Given the description of an element on the screen output the (x, y) to click on. 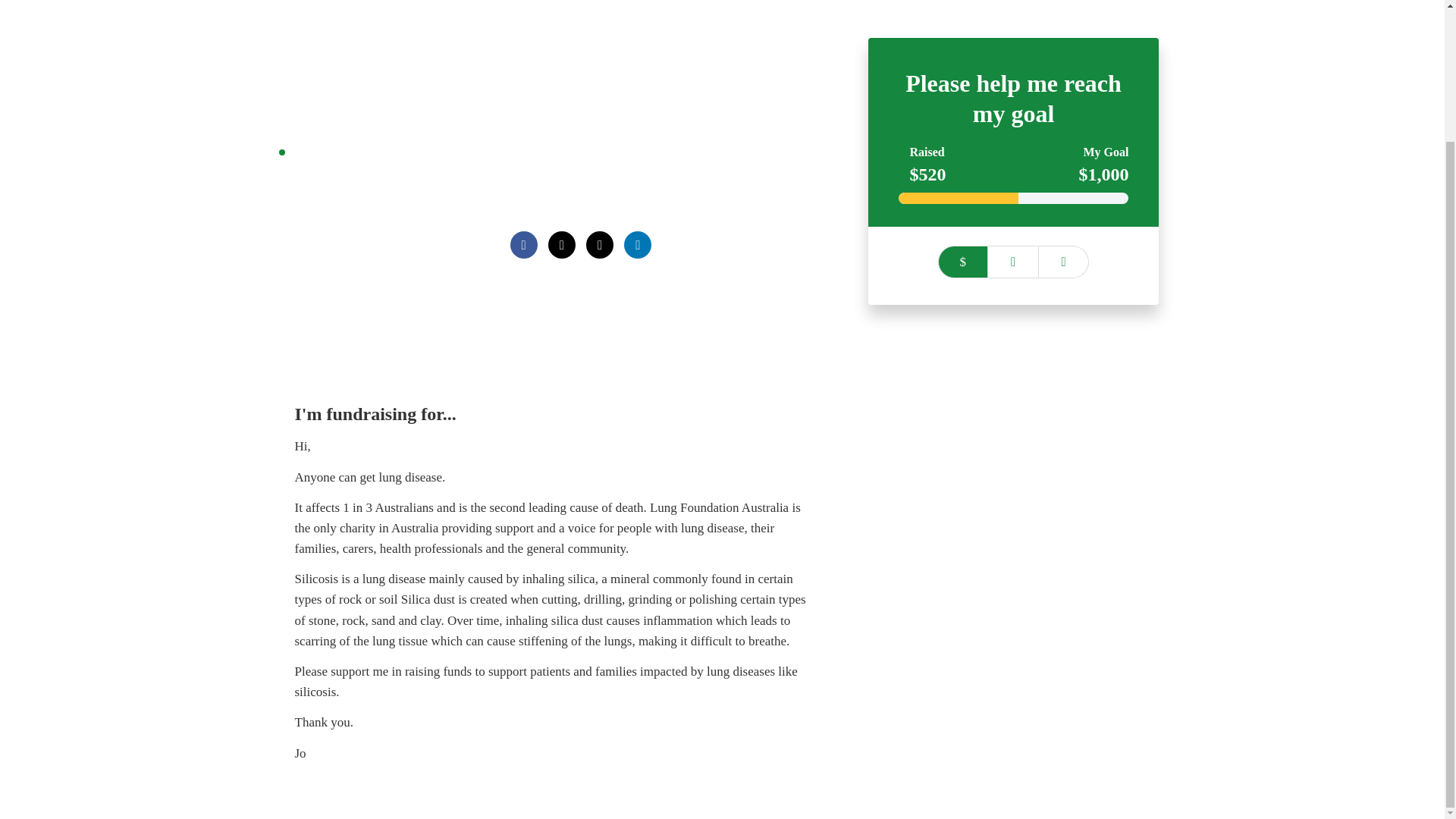
Joanna McNeill (570, 184)
